Given the description of an element on the screen output the (x, y) to click on. 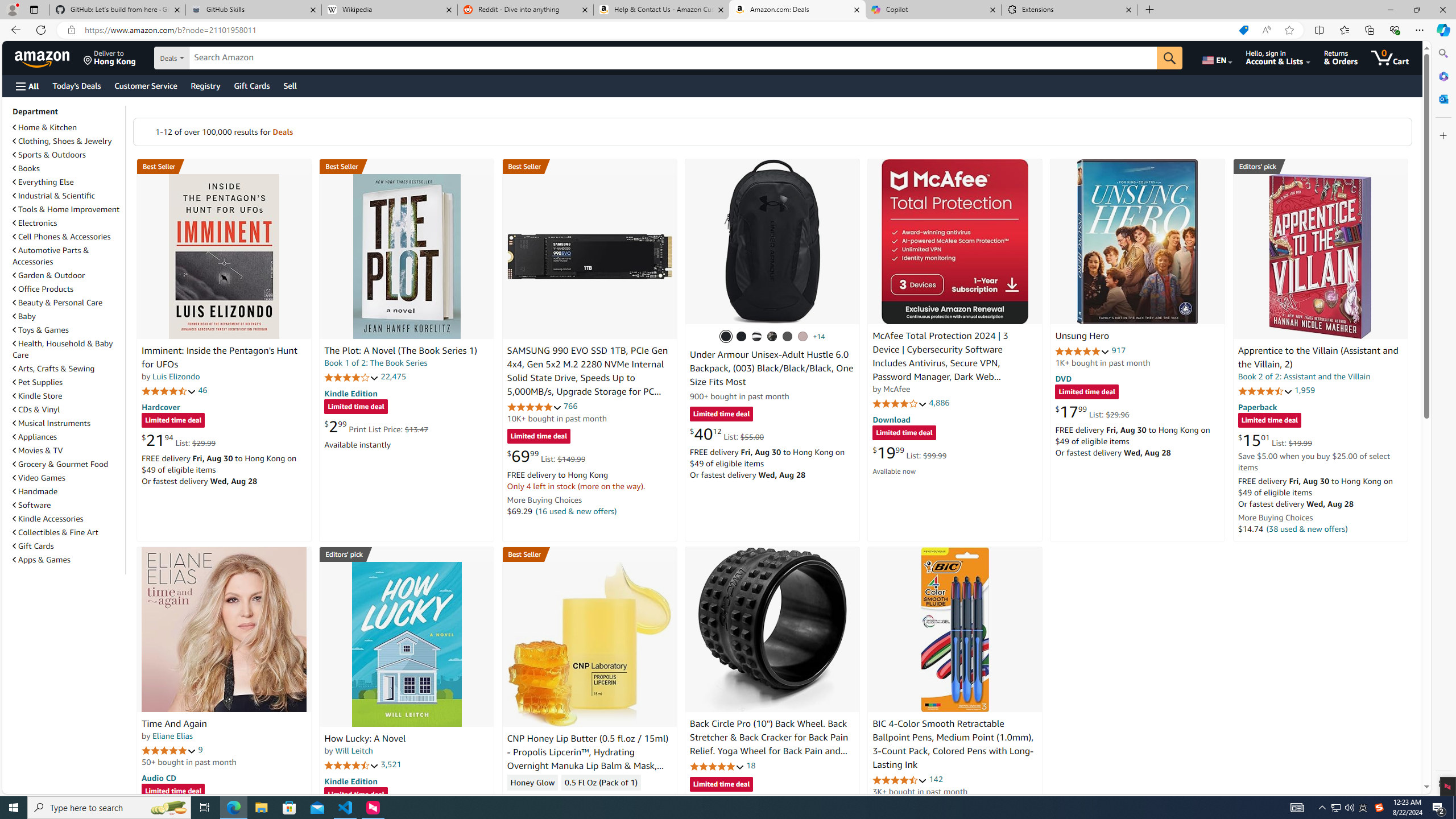
Cell Phones & Accessories (61, 236)
Sell (290, 85)
142 (935, 778)
(002) Black / Black / White (756, 336)
Health, Household & Baby Care (67, 348)
Go (1169, 57)
$2.99 Print List Price: $13.47 (376, 426)
Apprentice to the Villain (Assistant and the Villain, 2) (1319, 256)
(005) Black Full Heather / Black / Metallic Gold (788, 336)
Kindle Accessories (47, 518)
Grocery & Gourmet Food (61, 463)
